Given the description of an element on the screen output the (x, y) to click on. 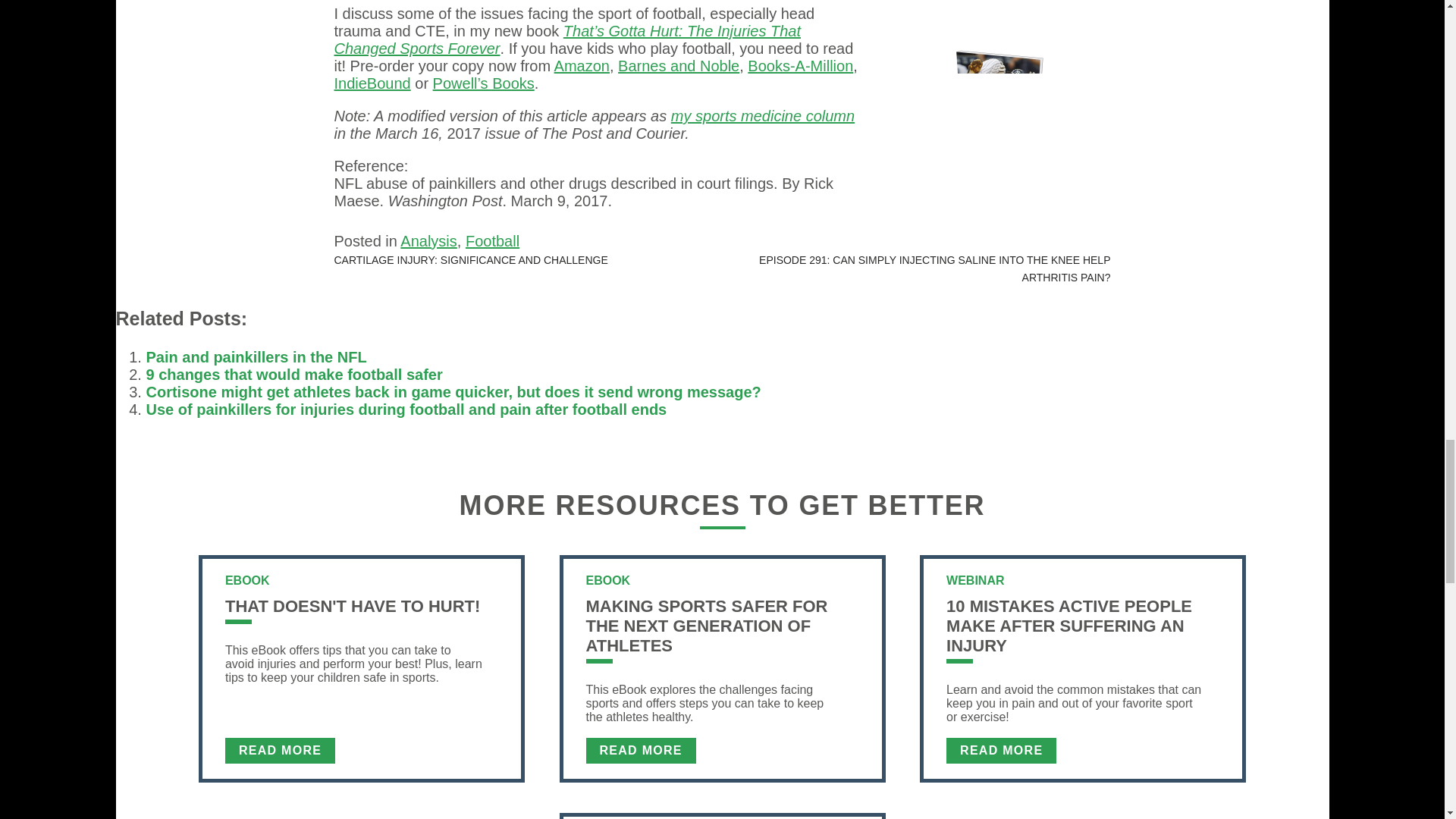
Football (492, 240)
Amazon (582, 65)
Analysis (428, 240)
9 changes that would make football safer (293, 374)
Pain and painkillers in the NFL (255, 356)
Barnes and Noble (678, 65)
Books-A-Million (800, 65)
CARTILAGE INJURY: SIGNIFICANCE AND CHALLENGE (470, 259)
my sports medicine column (762, 115)
